Given the description of an element on the screen output the (x, y) to click on. 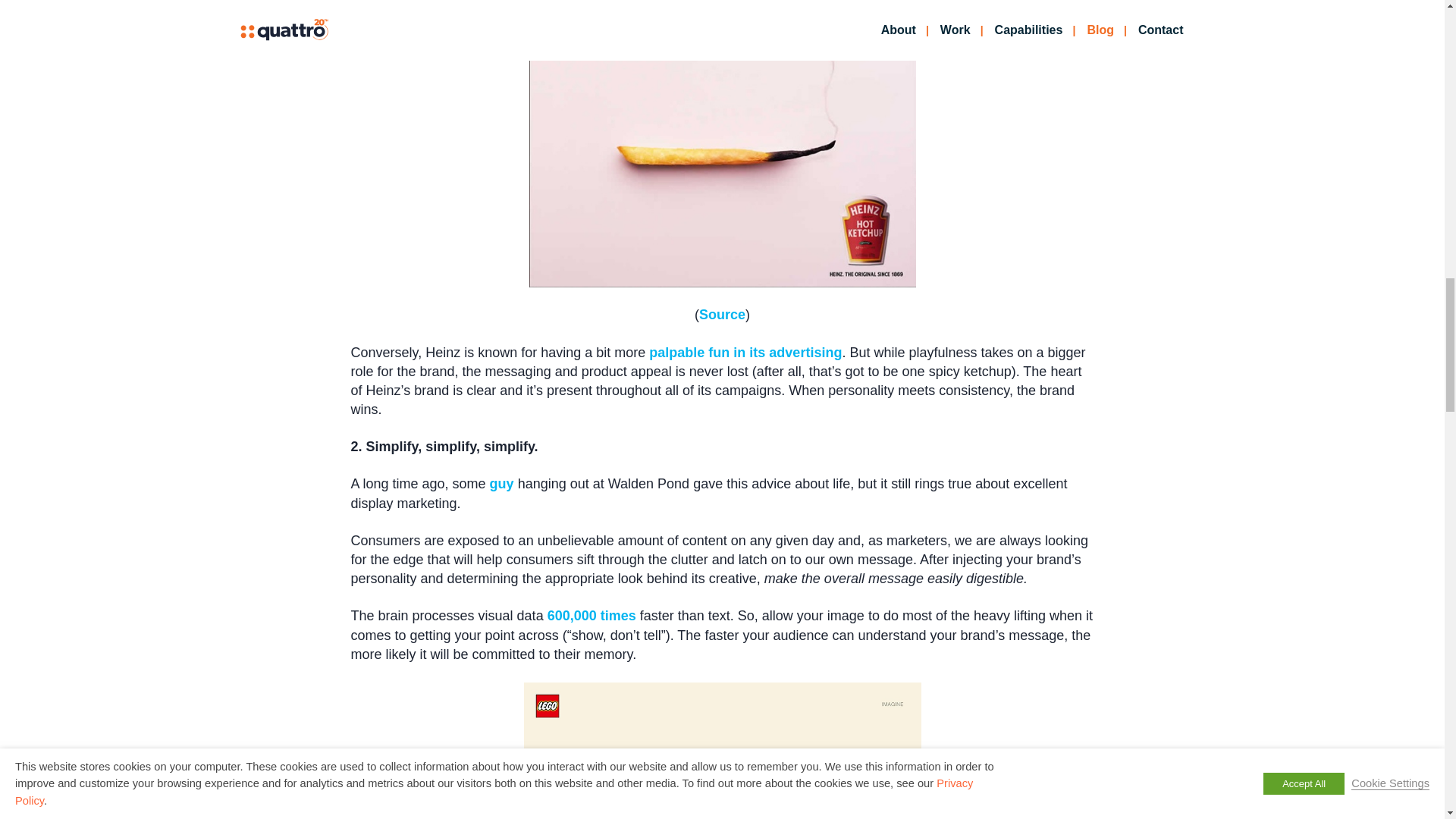
Heinz Hot Ketchup (722, 147)
Lego ad (721, 750)
palpable fun in its advertising (745, 351)
guy (501, 483)
600,000 times (591, 615)
Source (721, 314)
